Given the description of an element on the screen output the (x, y) to click on. 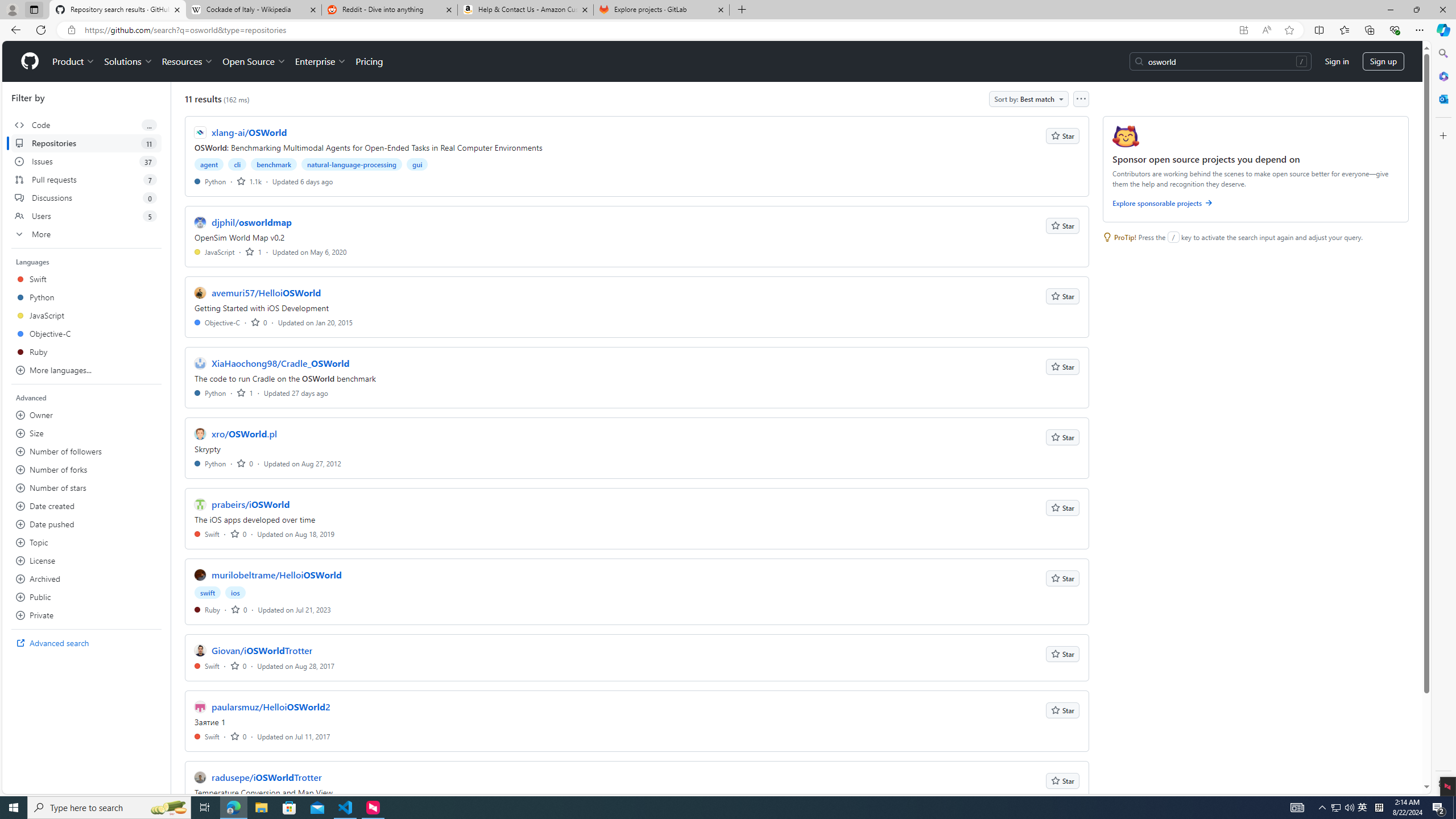
Sort by: Best match (1028, 98)
Star (1061, 780)
Sign in (1336, 61)
Solutions (128, 60)
JavaScript (214, 251)
prabeirs/iOSWorld (250, 504)
Resources (187, 60)
Restore (1416, 9)
Updated on Jan 20, 2015 (315, 321)
agent (209, 164)
swift (208, 592)
More languages... (86, 370)
Split screen (1318, 29)
